Given the description of an element on the screen output the (x, y) to click on. 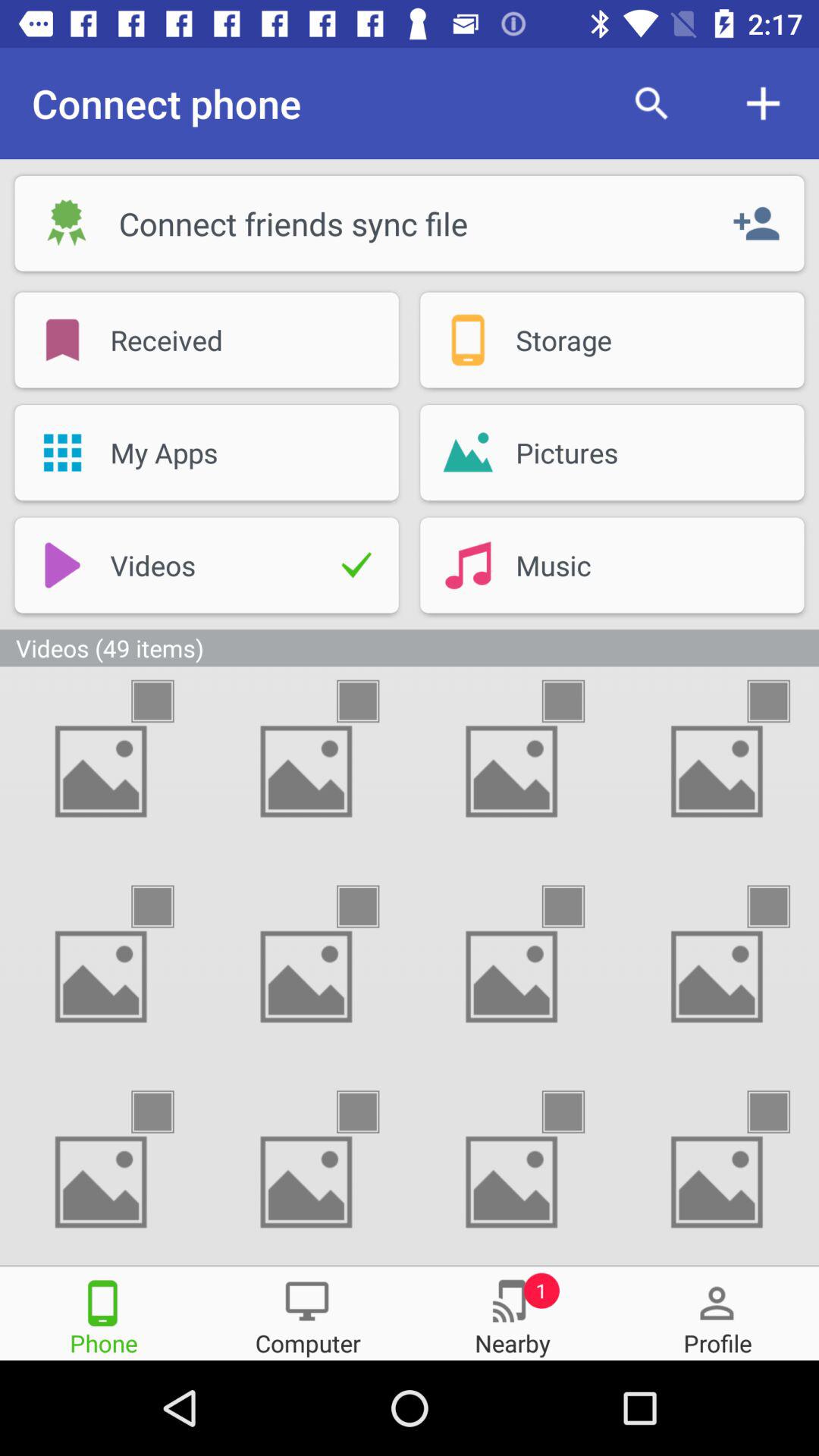
select picture (782, 1111)
